Given the description of an element on the screen output the (x, y) to click on. 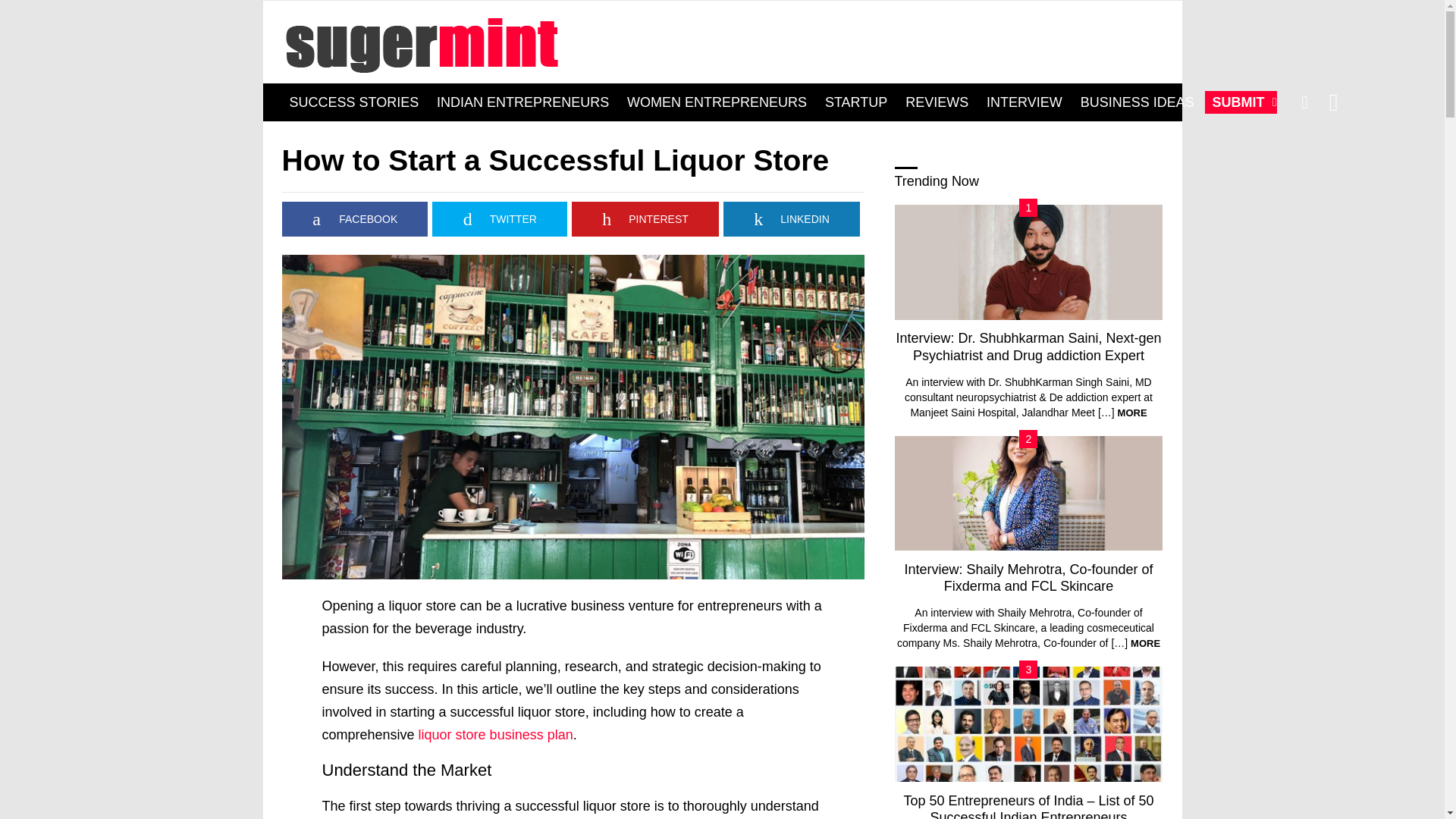
SUBMIT (1240, 101)
BUSINESS IDEAS (1137, 101)
SUCCESS STORIES (354, 101)
FOLLOW US (1333, 102)
STARTUP (855, 101)
WOMEN ENTREPRENEURS (716, 101)
LINKEDIN (791, 218)
FACEBOOK (355, 218)
INDIAN ENTREPRENEURS (522, 101)
SEARCH (1304, 101)
TWITTER (499, 218)
liquor store business plan (496, 734)
Follow us (1333, 102)
REVIEWS (936, 101)
INTERVIEW (1024, 101)
